Given the description of an element on the screen output the (x, y) to click on. 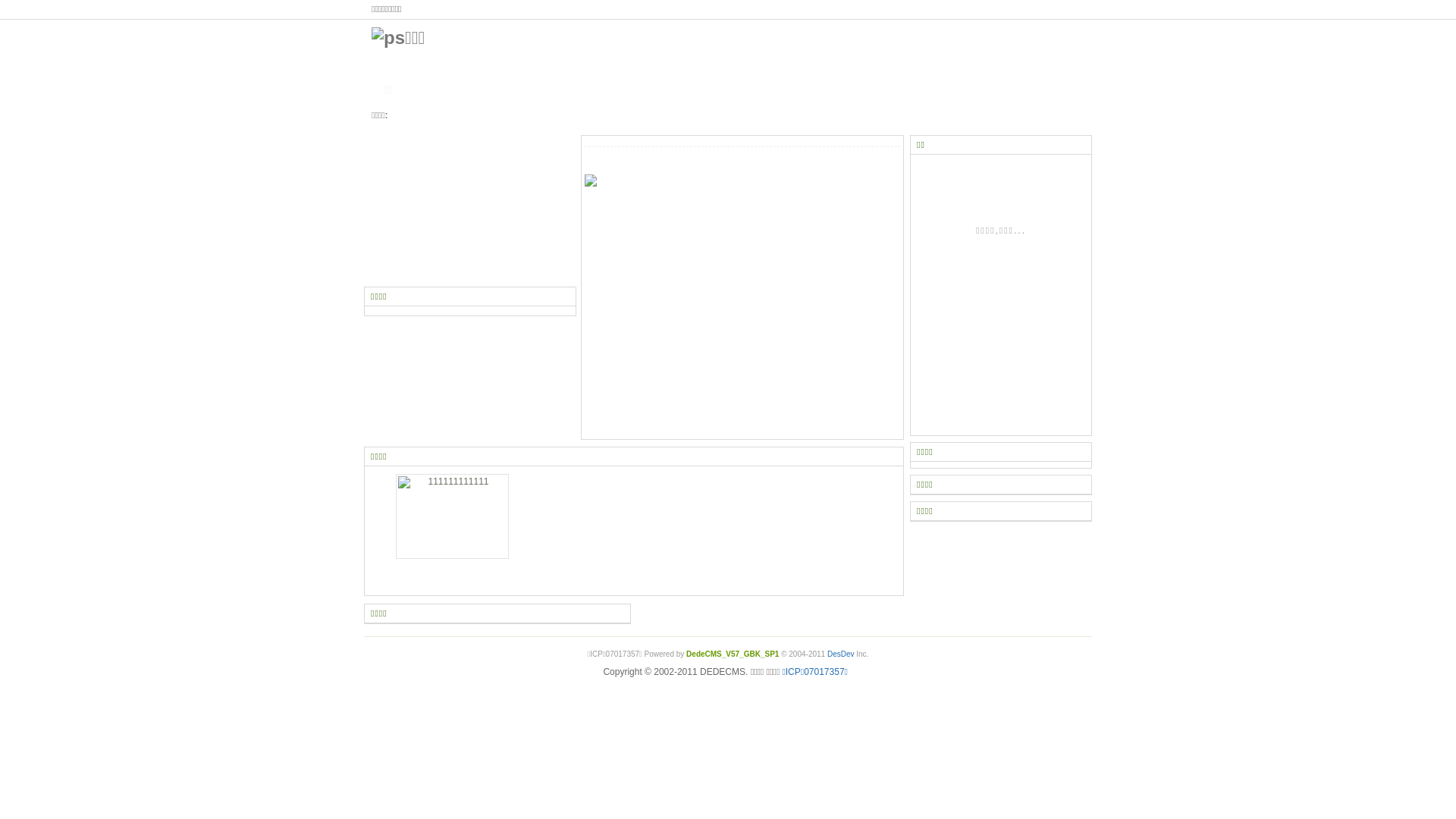
DesDev Element type: text (840, 653)
DedeCMS_V57_GBK_SP1 Element type: text (732, 653)
